Given the description of an element on the screen output the (x, y) to click on. 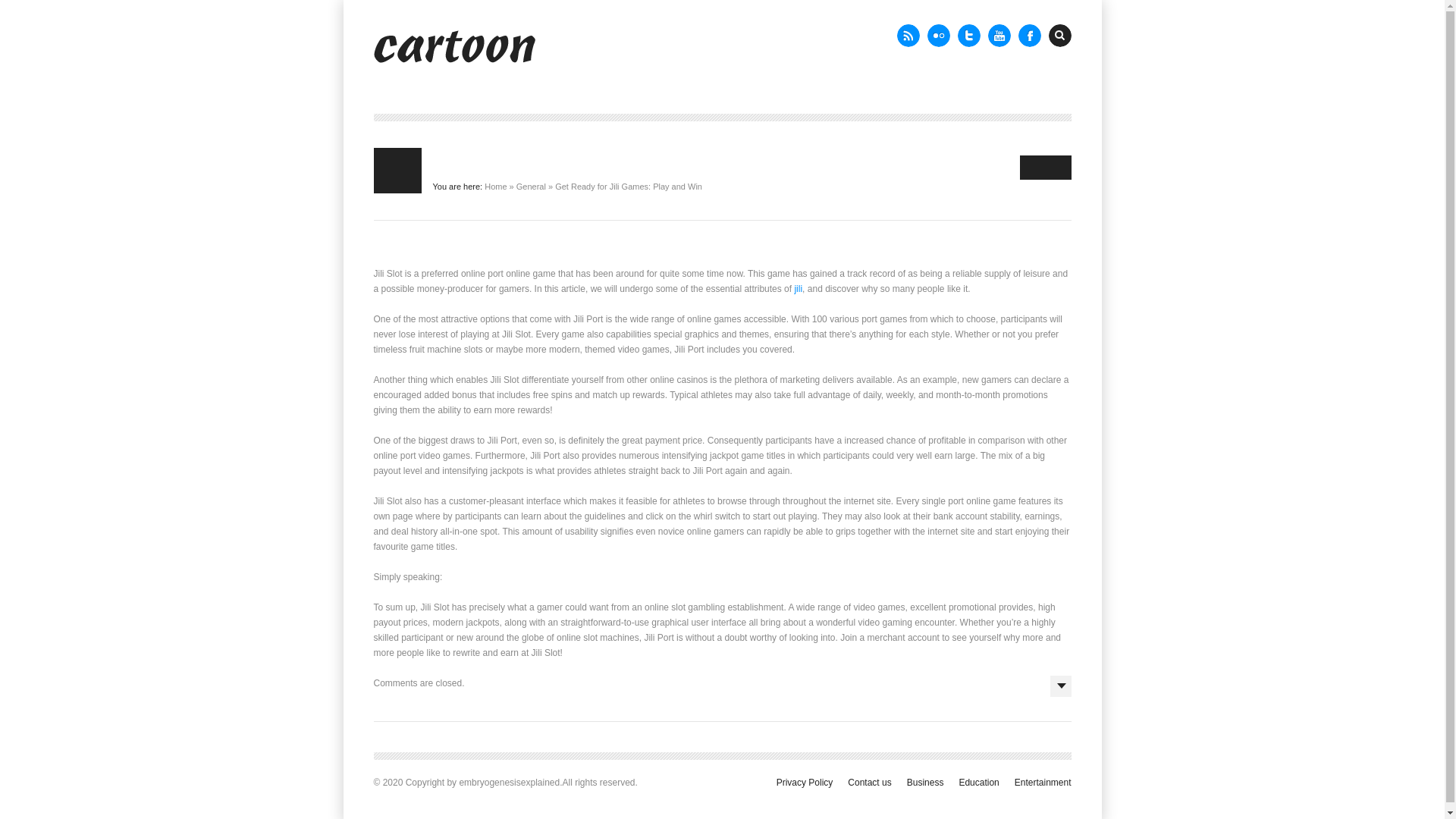
Whatch us on Youtube. (998, 35)
Home (495, 185)
Education (978, 782)
General (531, 185)
Facebook (1029, 35)
Business (925, 782)
Contact us (869, 782)
Drag to Share (1044, 167)
Flickr (937, 35)
Privacy Policy (804, 782)
Follow us on Twitter (967, 35)
Entertainment (1042, 782)
Get the lastest news. (907, 35)
